Given the description of an element on the screen output the (x, y) to click on. 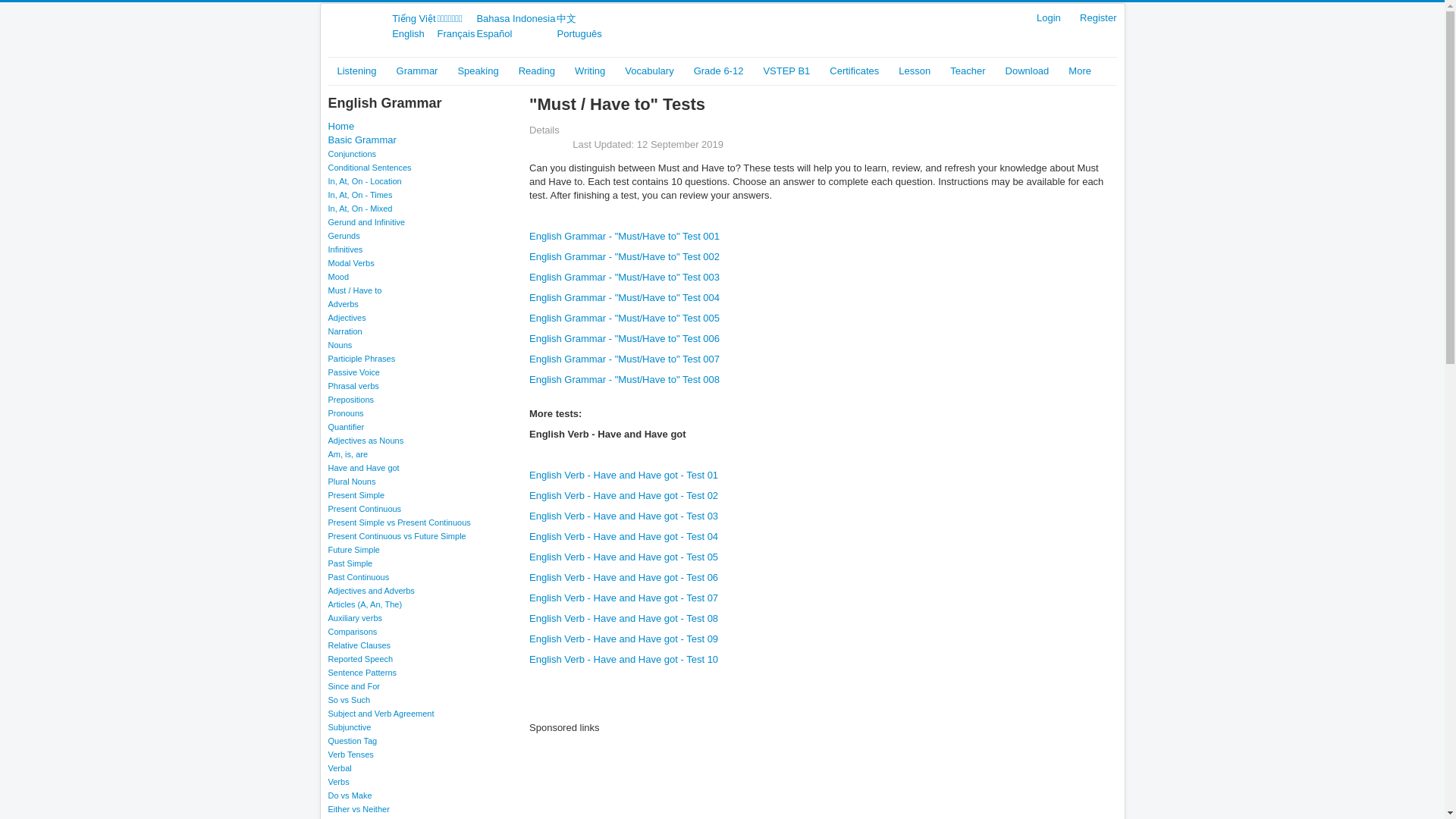
Writing (590, 70)
Bahasa Indonesia (515, 18)
Register (1098, 17)
Speaking (477, 70)
Reading (536, 70)
Vocabulary (648, 70)
Certificates (854, 70)
Grammar (416, 70)
Listening (356, 70)
Login (1048, 17)
VSTEP B1 (786, 70)
English (408, 33)
Grade 6-12 (718, 70)
